Given the description of an element on the screen output the (x, y) to click on. 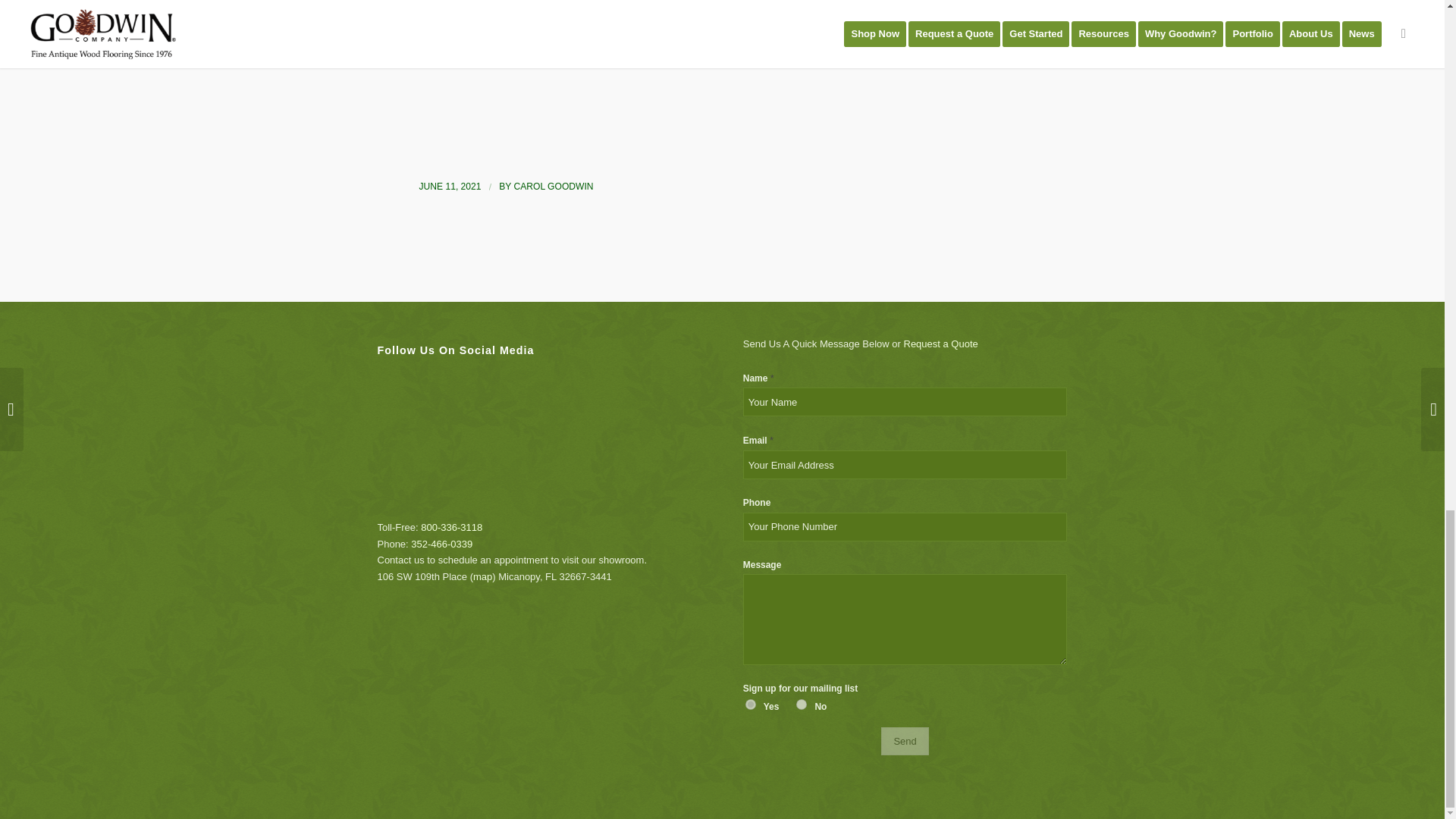
No (801, 704)
LinkedIn (576, 379)
CAROL GOODWIN (553, 185)
Twitter (474, 379)
Pinterest (542, 379)
Yes (750, 704)
Posts by Carol Goodwin (553, 185)
Facebook (439, 379)
